Given the description of an element on the screen output the (x, y) to click on. 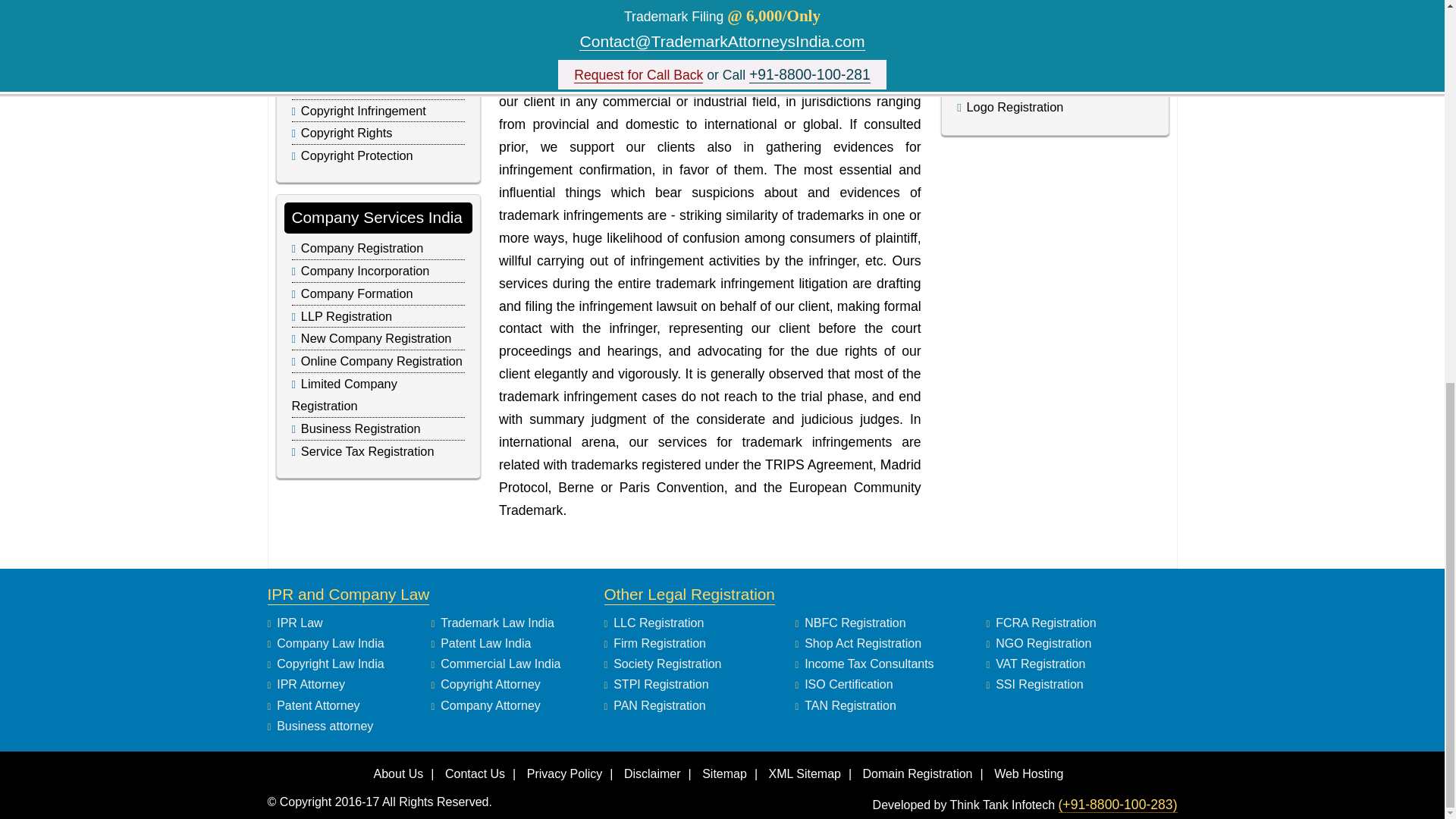
Brand Registration (1017, 81)
Trademark Classes (1019, 56)
Trademark Logo (1011, 30)
Design Registration (355, 2)
Logo Registration (1014, 106)
Trademark Search (1016, 6)
